Given the description of an element on the screen output the (x, y) to click on. 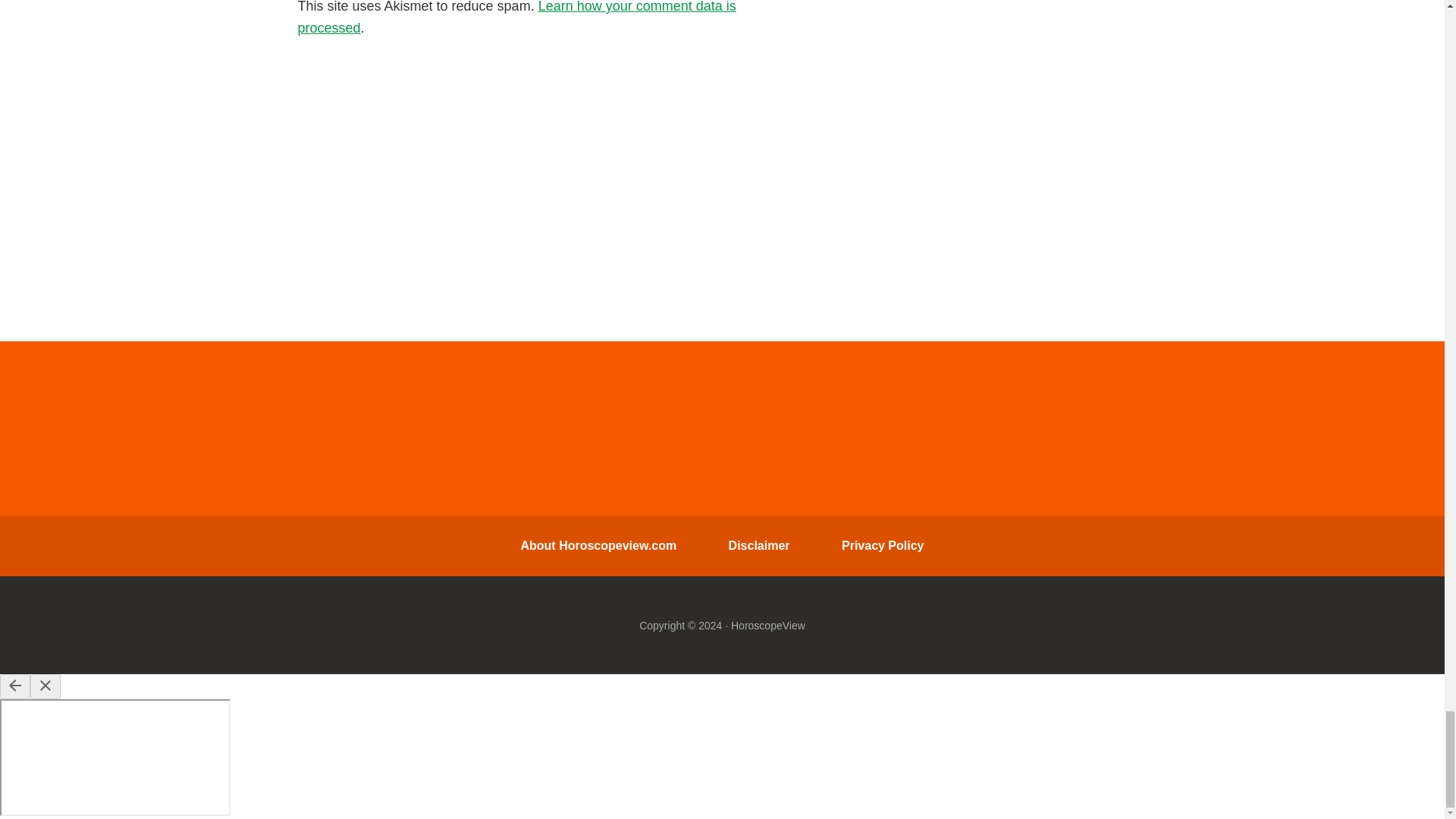
Learn how your comment data is processed (516, 18)
